Given the description of an element on the screen output the (x, y) to click on. 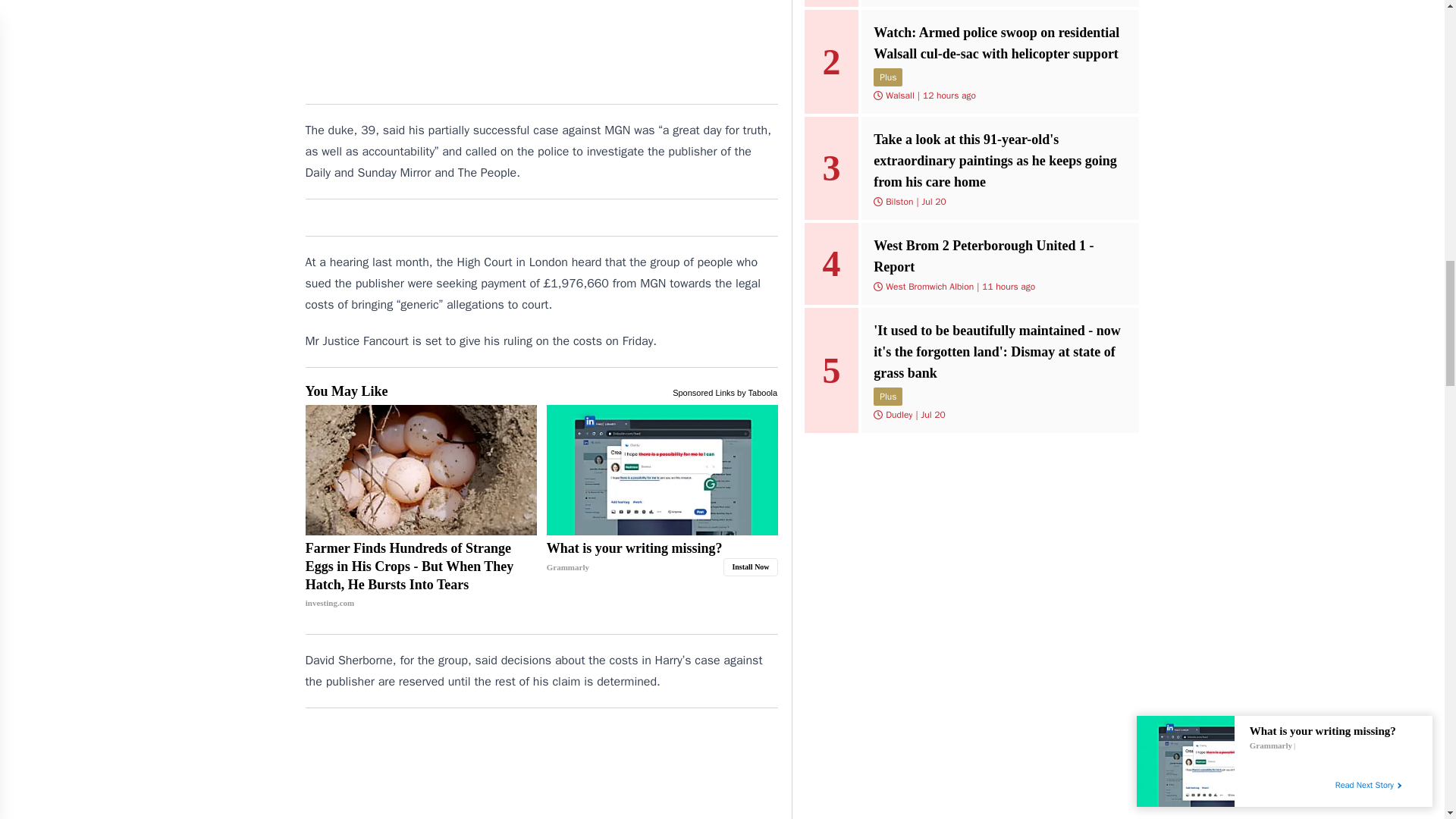
3rd party ad content (541, 45)
What is your writing missing? (662, 557)
What is your writing missing? (662, 469)
